Given the description of an element on the screen output the (x, y) to click on. 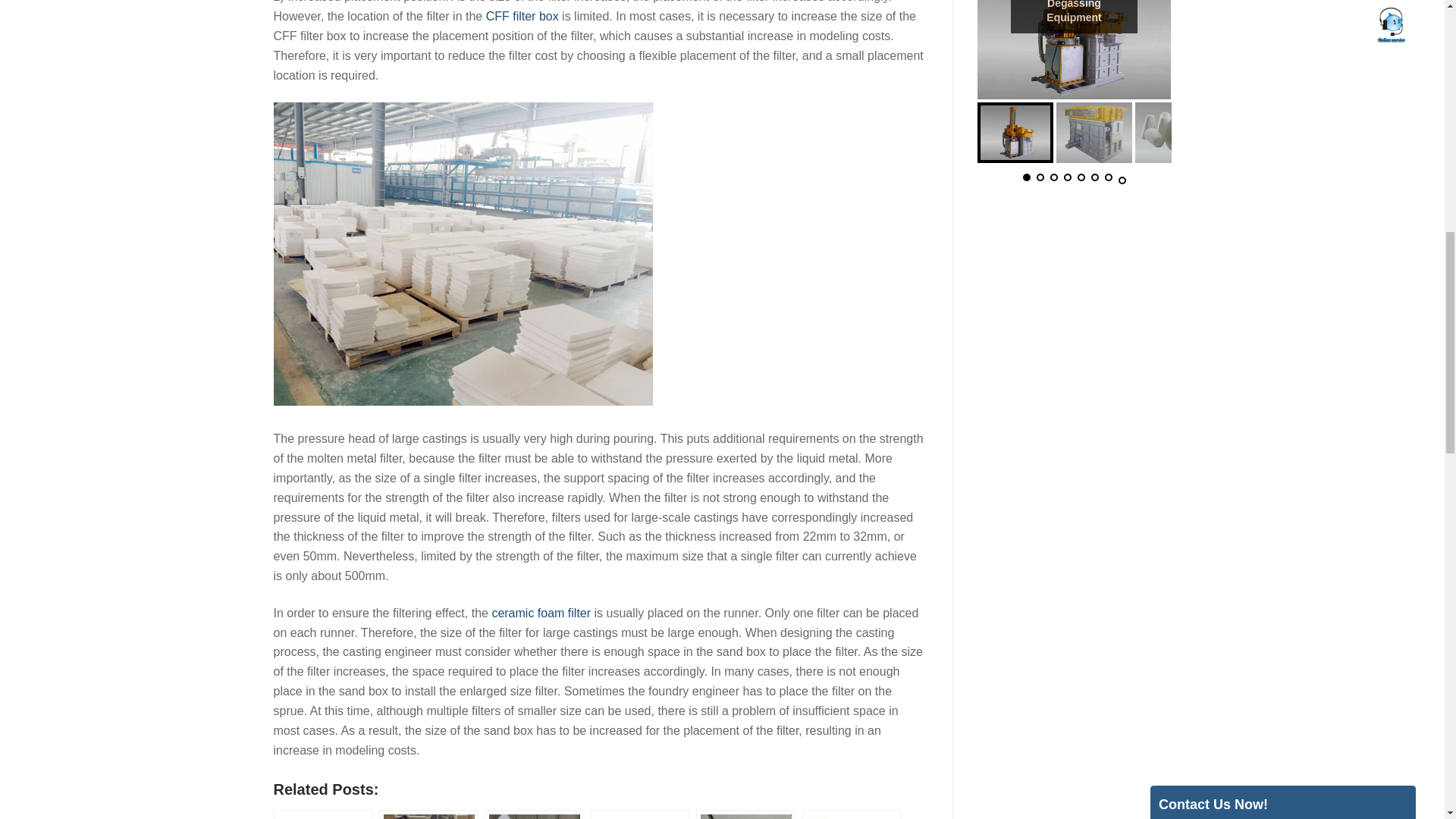
Send (1191, 316)
Alumina Ceramic Foam Filters (639, 814)
Ceramic Filter Plate (322, 814)
Aluminum Casting Filter Media (744, 814)
Foundry Ceramic Filters (427, 814)
Alumina Foam Ceramics (533, 814)
Ceramic Filter for Aluminum Foundry (851, 814)
